Given the description of an element on the screen output the (x, y) to click on. 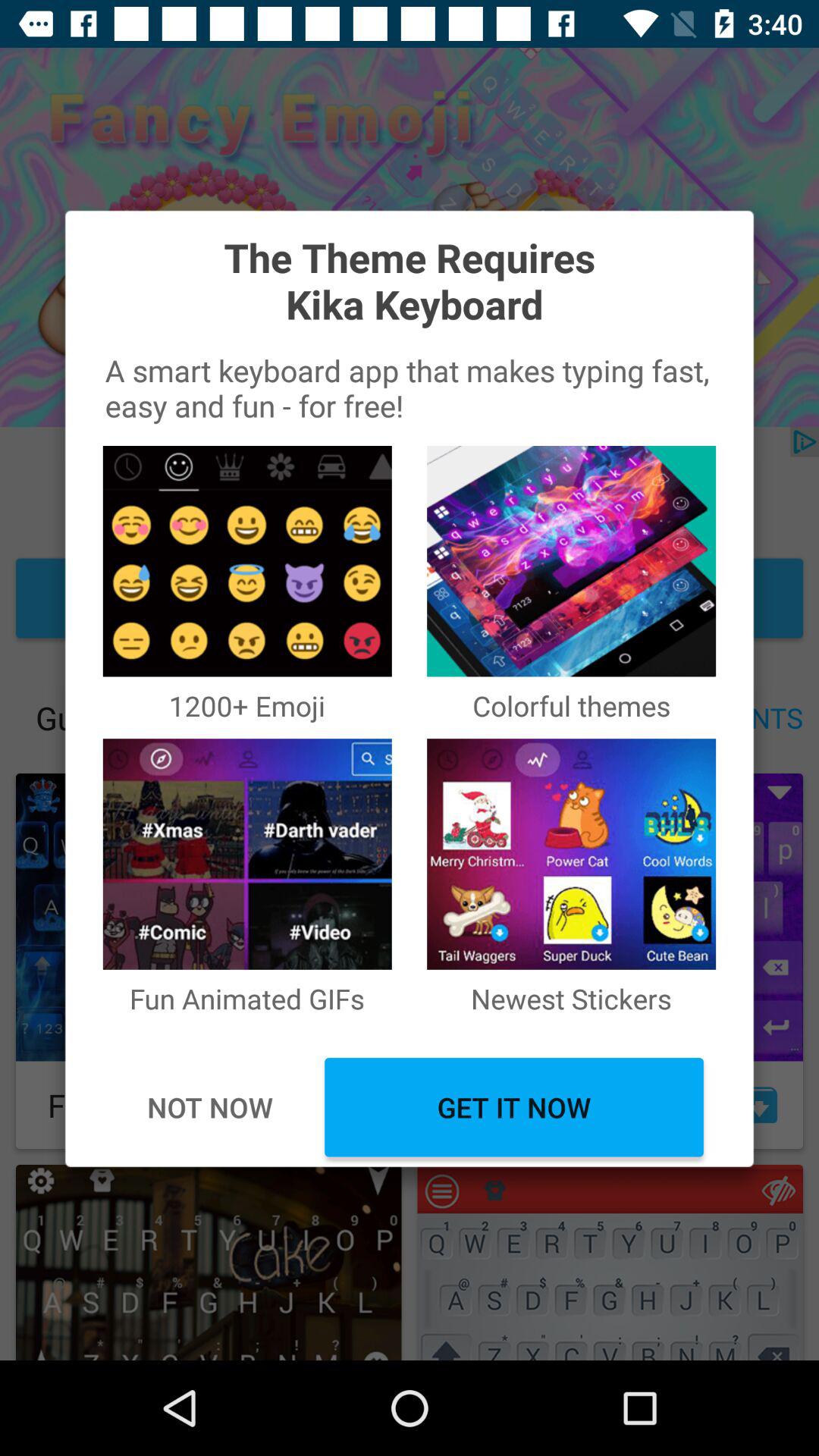
choose the icon next to not now icon (513, 1106)
